Given the description of an element on the screen output the (x, y) to click on. 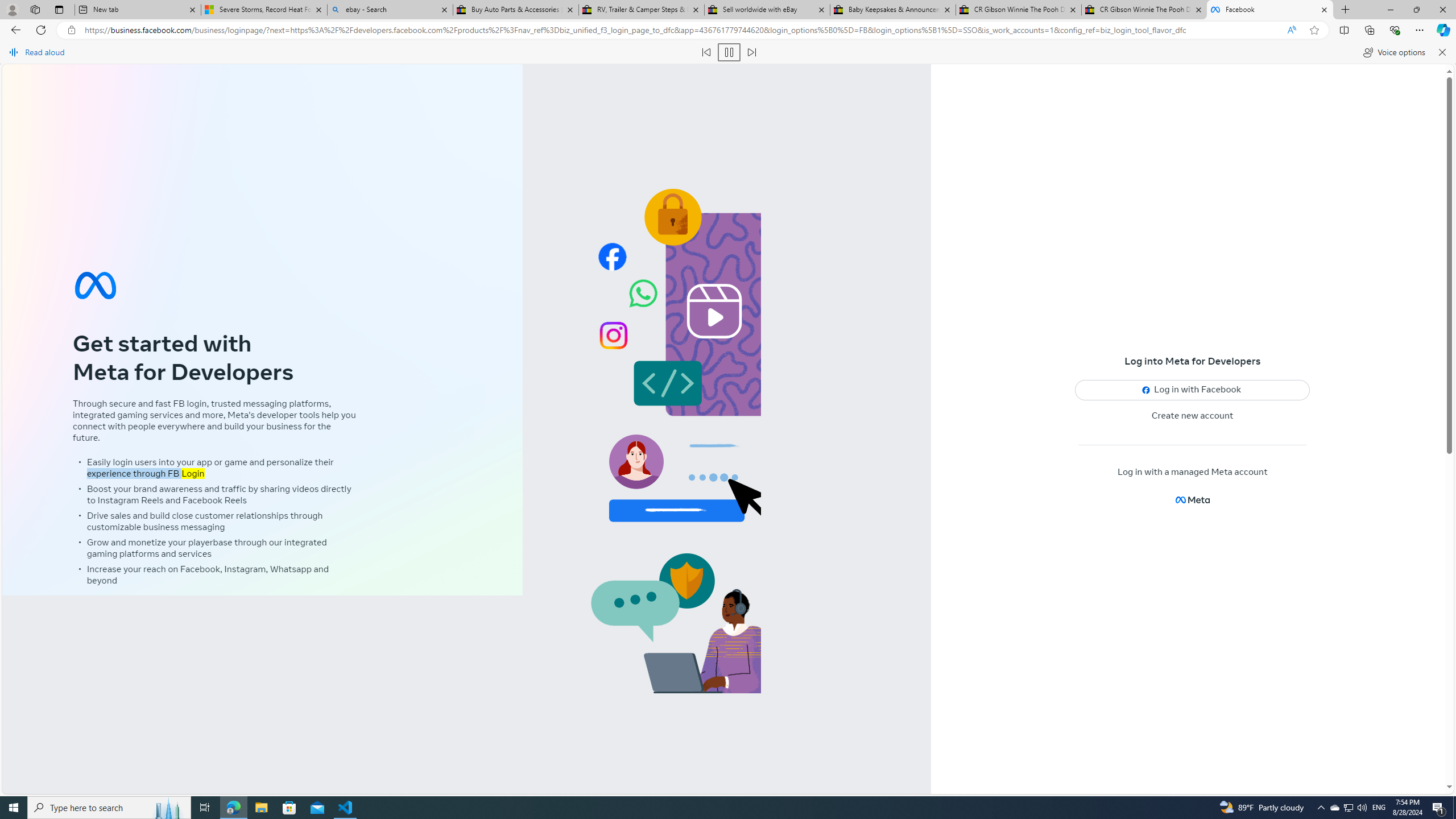
Log in with Facebook (1192, 389)
RV, Trailer & Camper Steps & Ladders for sale | eBay (641, 9)
App bar (728, 29)
Meta symbol (95, 285)
Read previous paragraph (705, 52)
Address and search bar (680, 29)
